Given the description of an element on the screen output the (x, y) to click on. 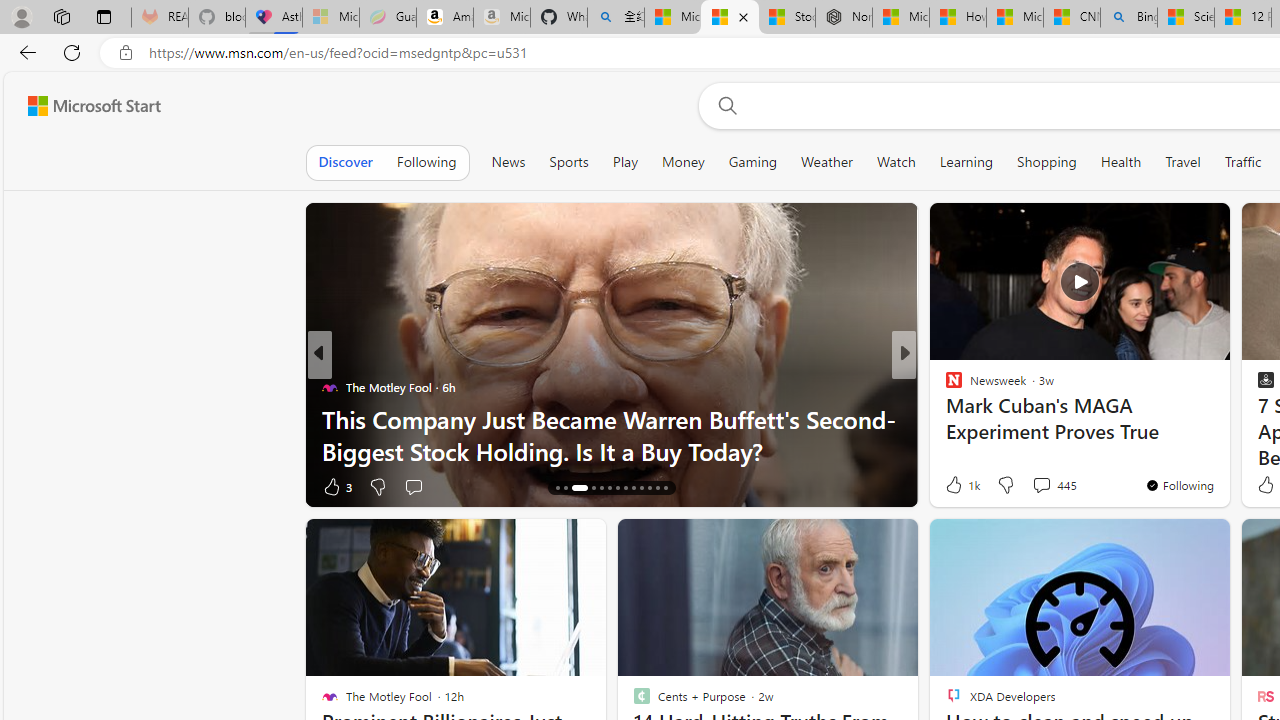
FOX News (944, 386)
Bored Panda (944, 386)
You're following Newsweek (1179, 485)
Asthma Inhalers: Names and Types (273, 17)
CNN - MSN (1071, 17)
Spotlight Feature (944, 386)
View comments 34 Comment (1044, 486)
12 Popular Science Lies that Must be Corrected (1242, 17)
View comments 30 Comment (1044, 486)
